Given the description of an element on the screen output the (x, y) to click on. 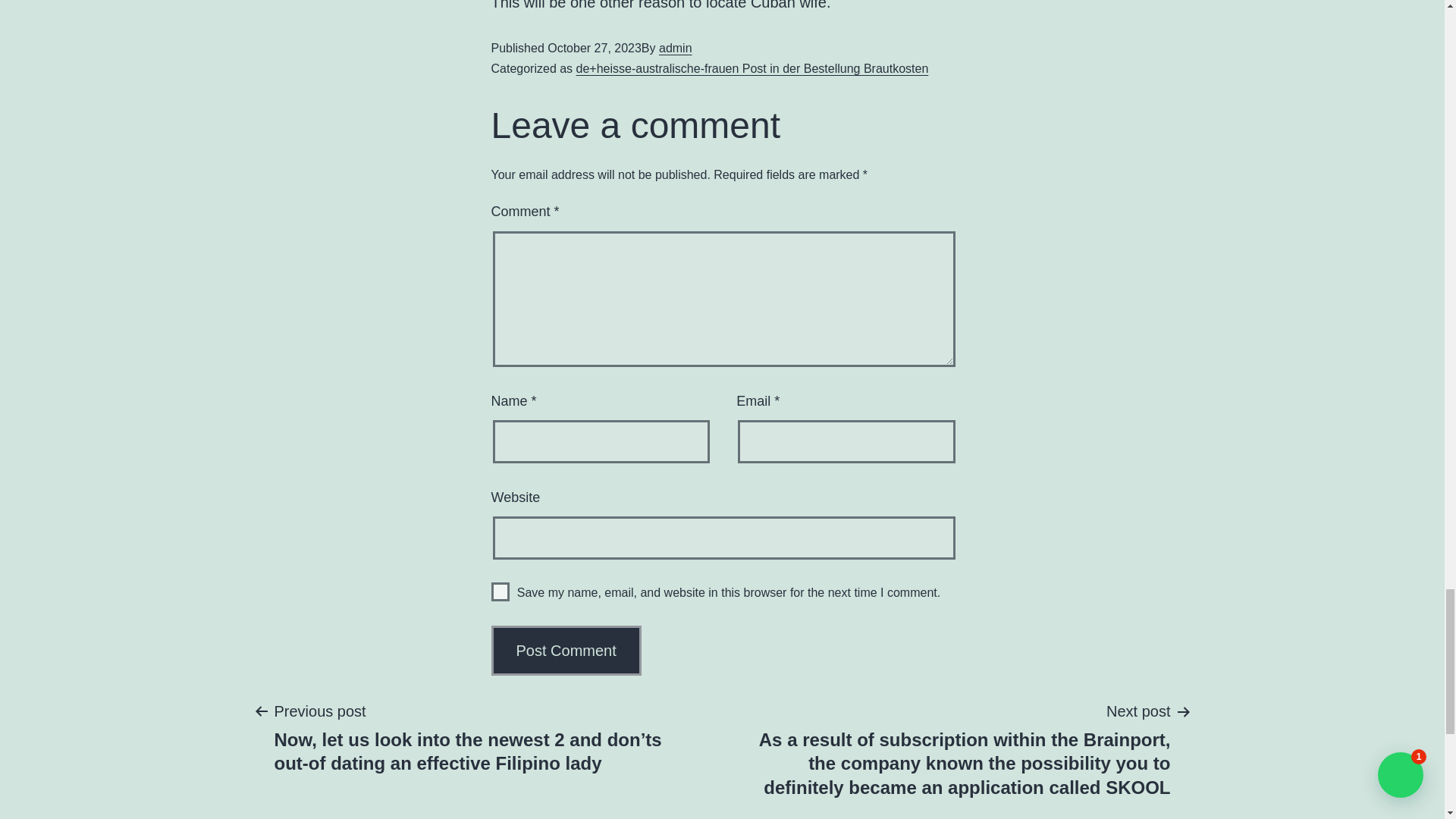
Post Comment (567, 650)
yes (500, 591)
Post Comment (567, 650)
admin (676, 47)
